Given the description of an element on the screen output the (x, y) to click on. 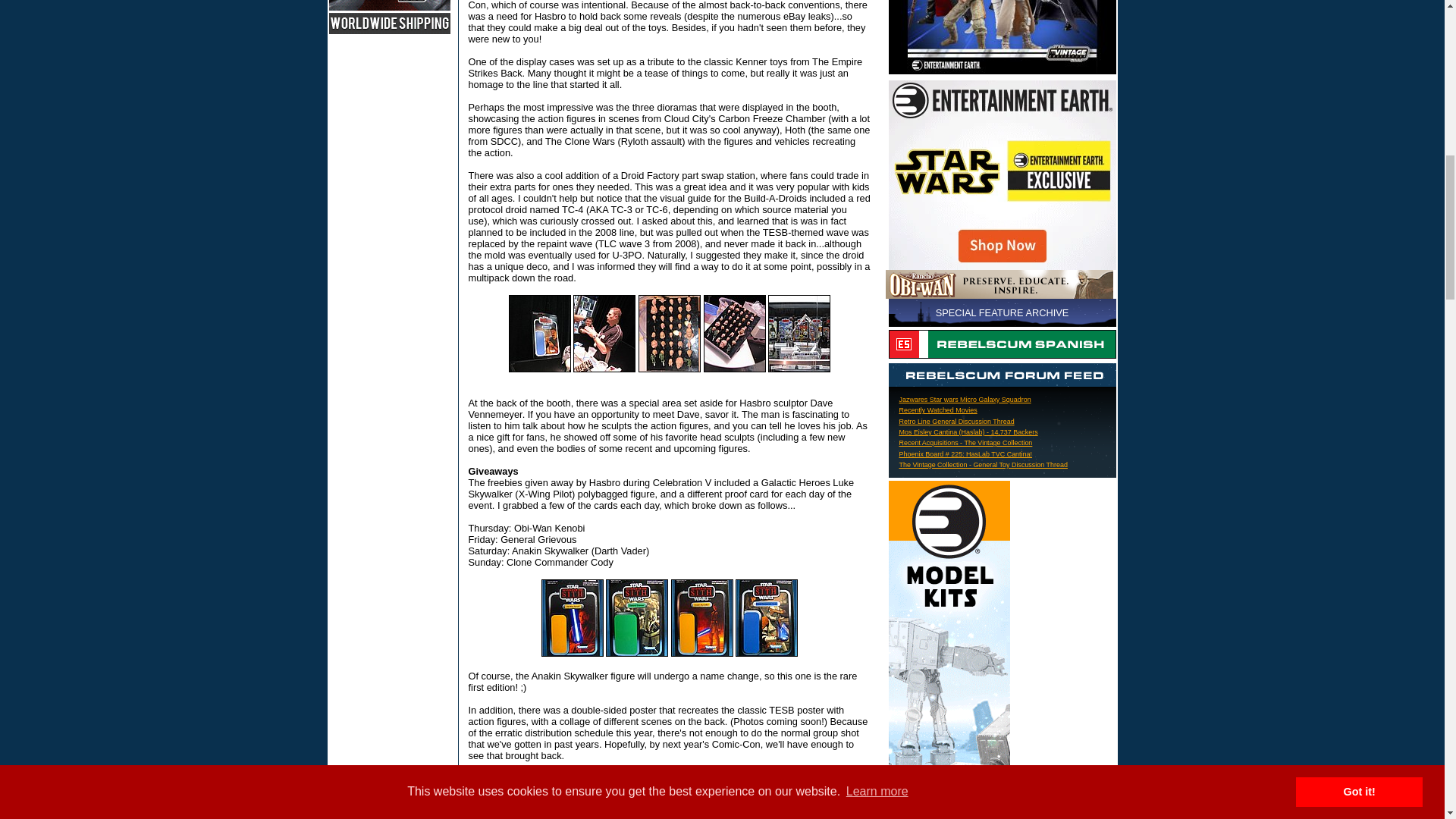
The Rebelscum Forum Feed (1002, 374)
